Given the description of an element on the screen output the (x, y) to click on. 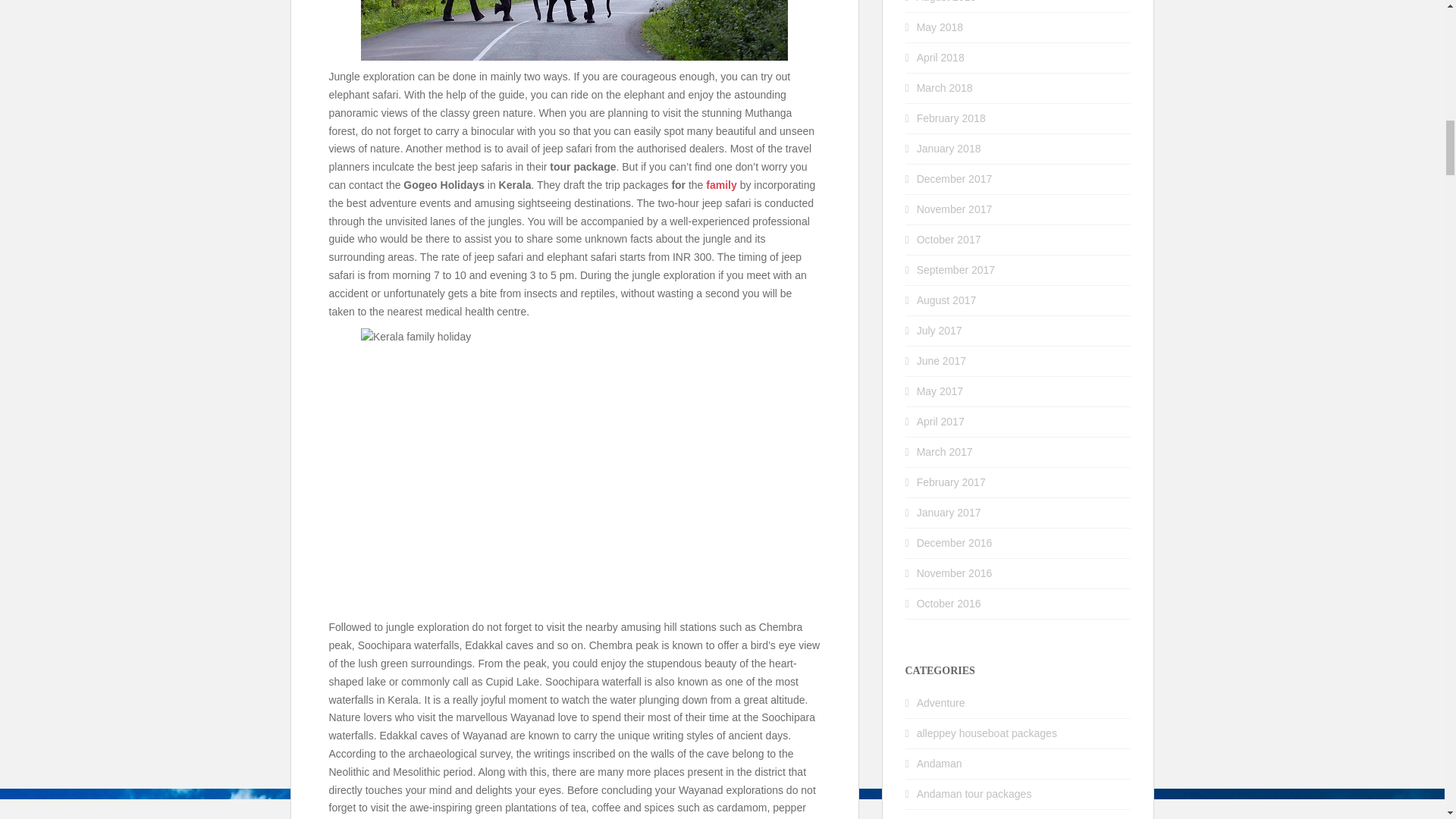
family (721, 184)
Kerala Family Tour Packages (574, 30)
Kerala Group Tour Packages (574, 469)
